Given the description of an element on the screen output the (x, y) to click on. 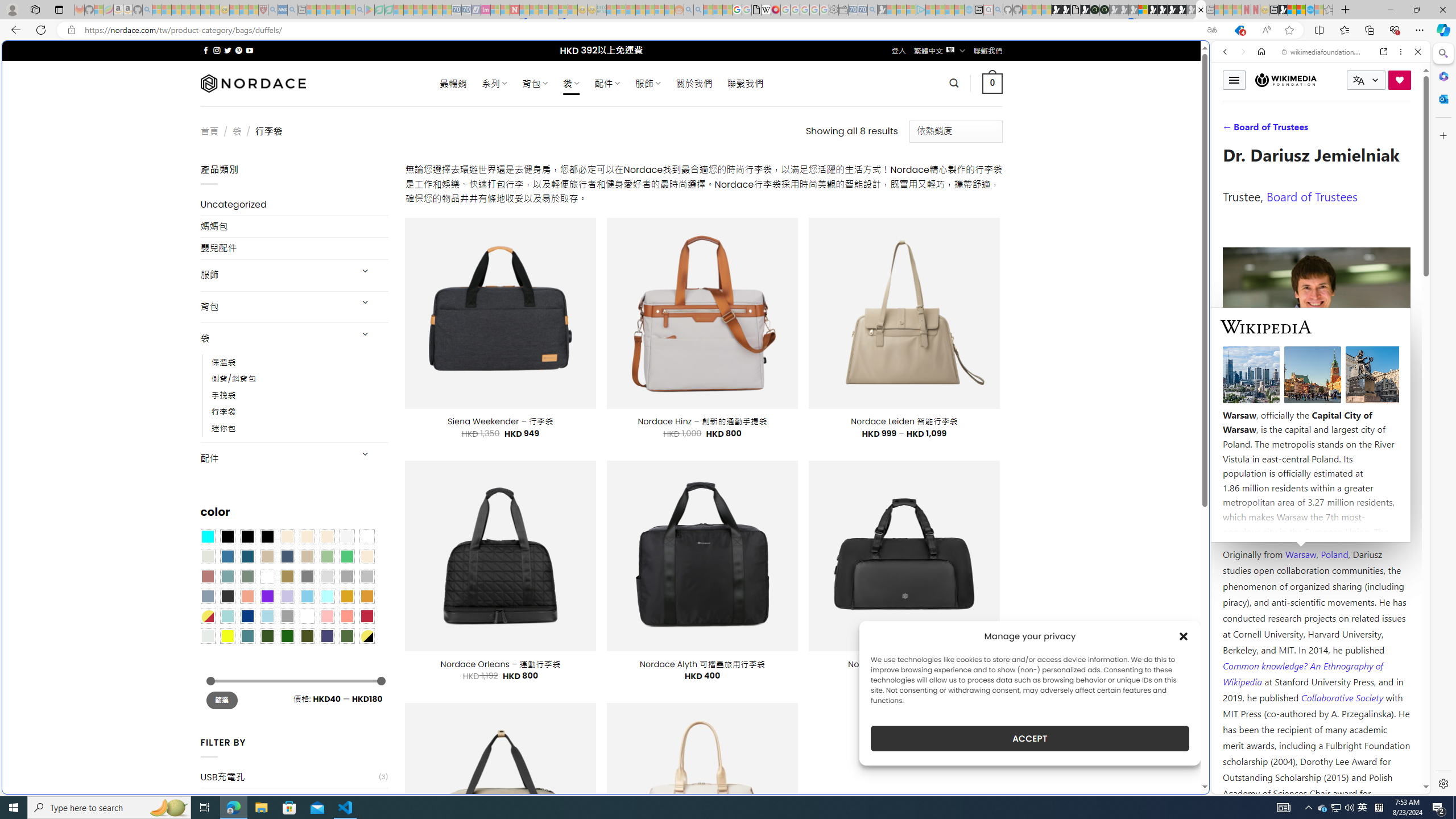
Frequently visited (965, 151)
